Given the description of an element on the screen output the (x, y) to click on. 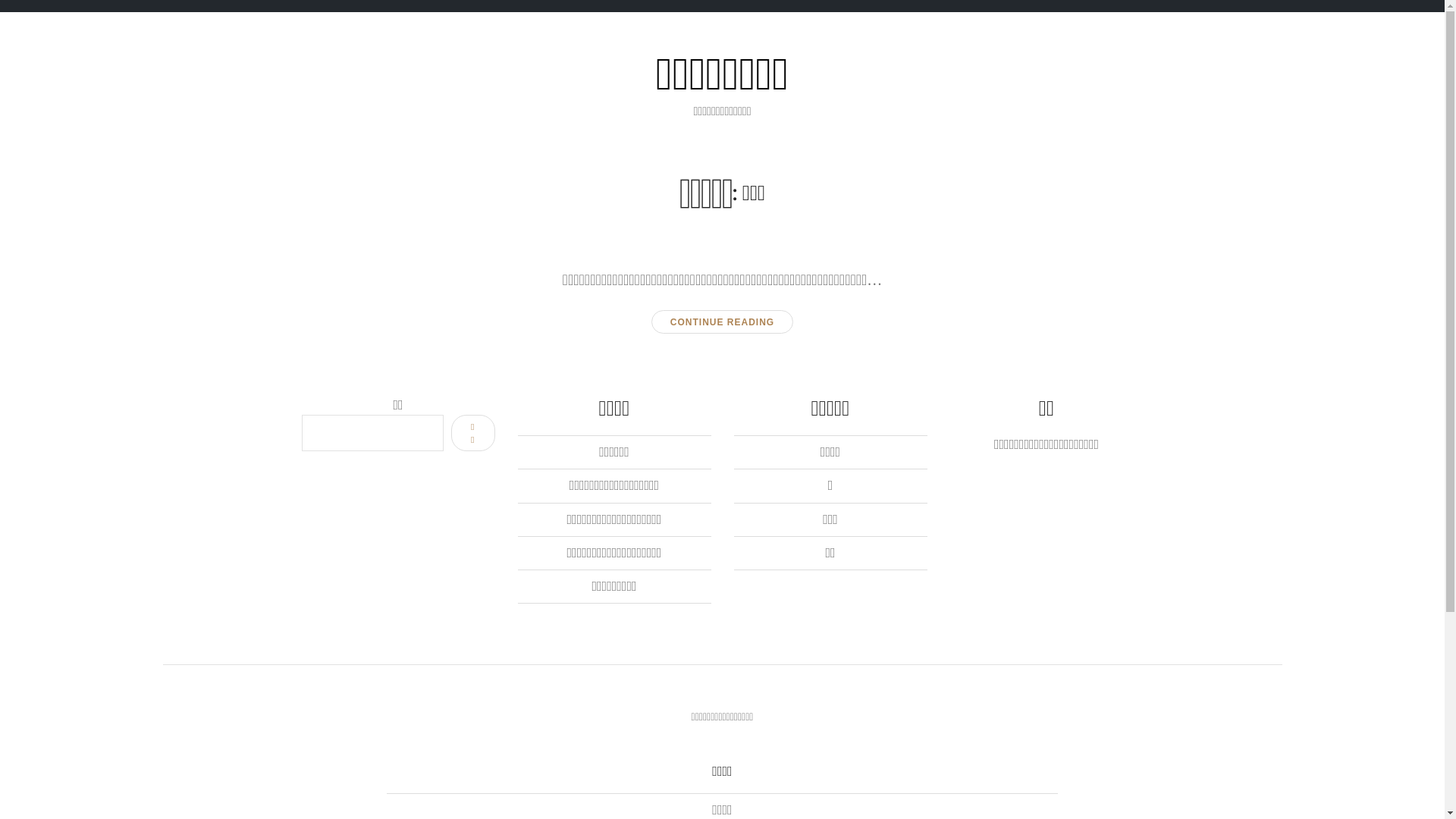
CONTINUE READING Element type: text (722, 321)
Skip to content Element type: text (10, 47)
